Given the description of an element on the screen output the (x, y) to click on. 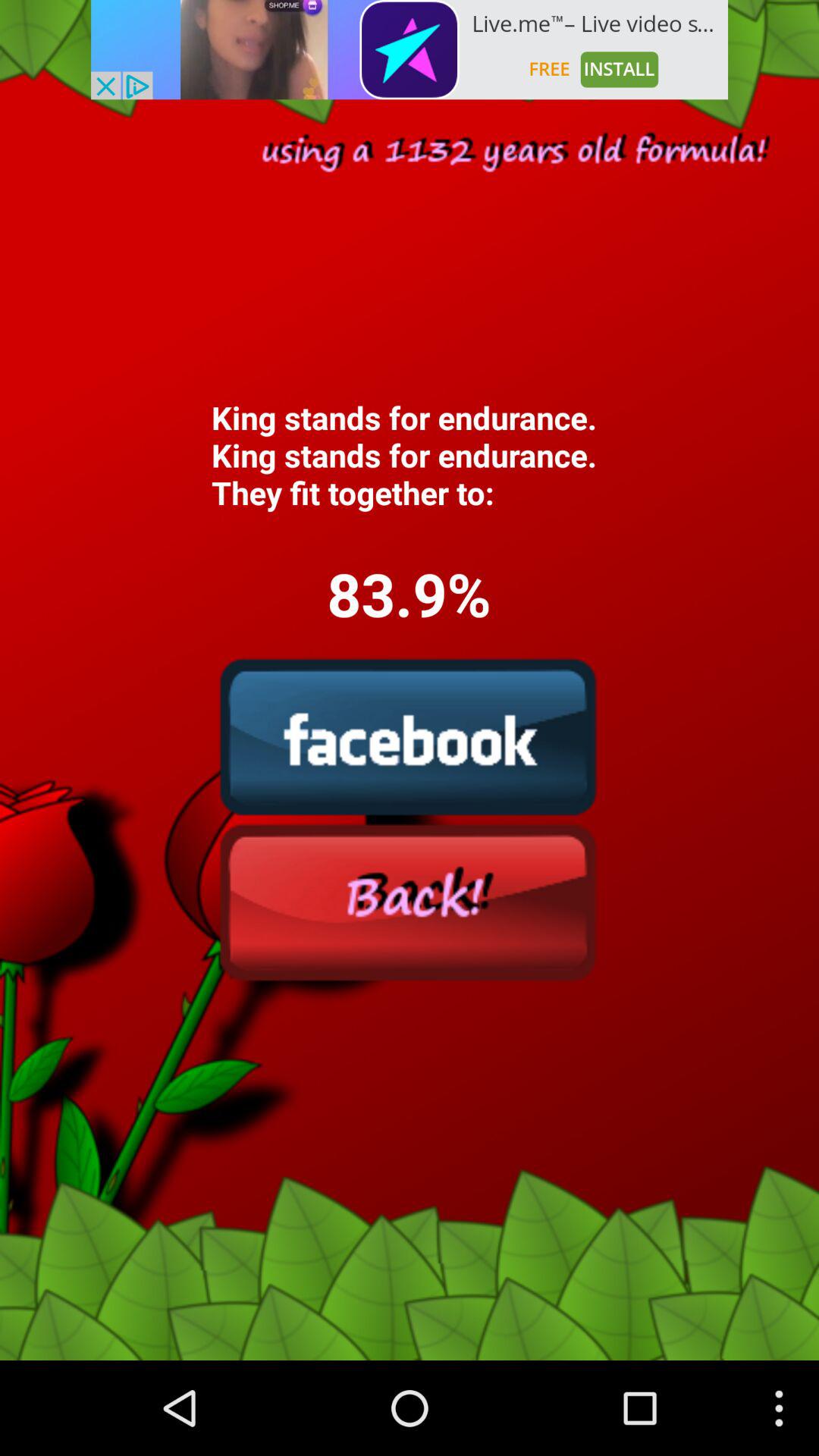
go to facebook (408, 736)
